Given the description of an element on the screen output the (x, y) to click on. 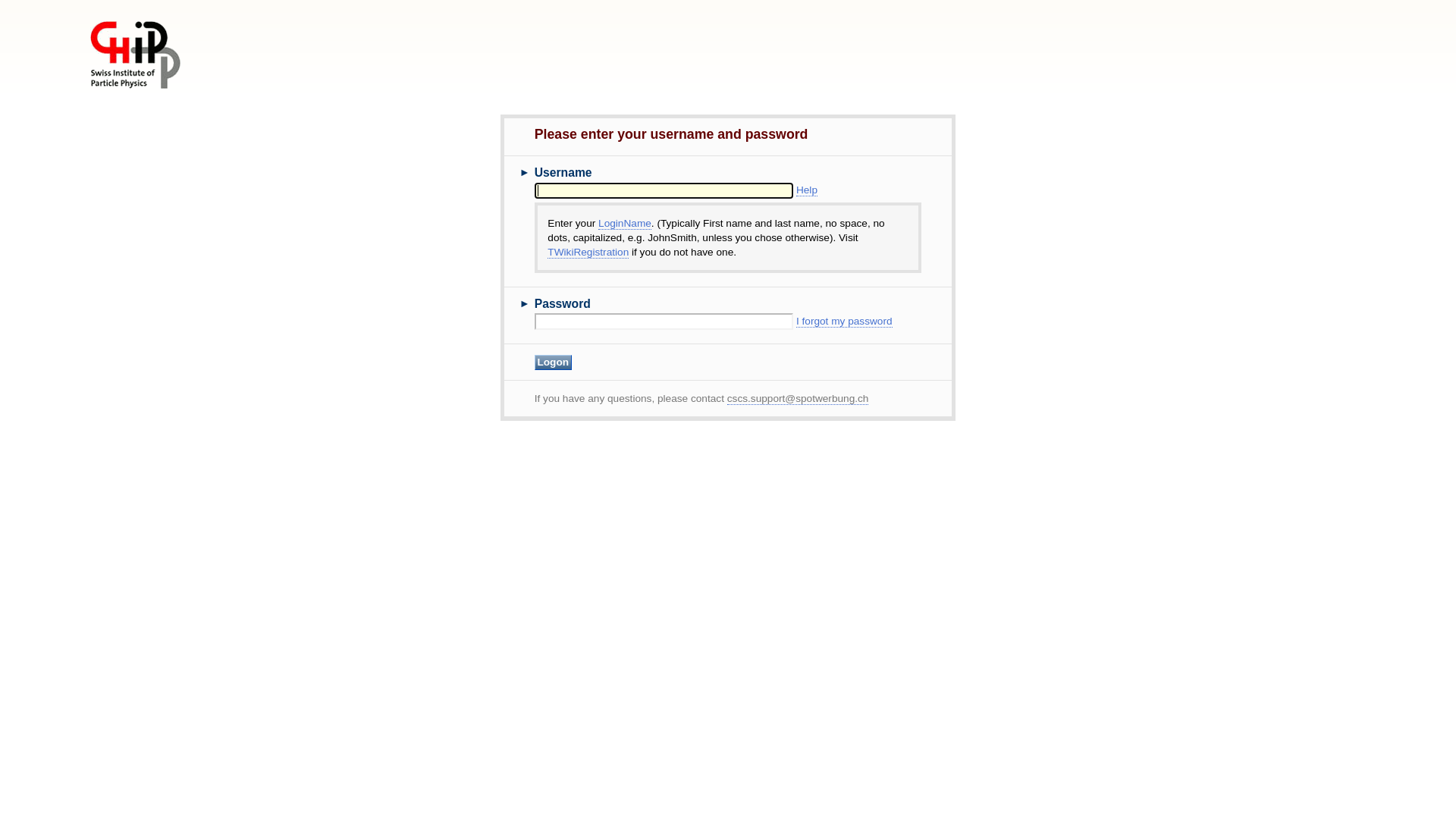
TWikiRegistration Element type: text (587, 252)
I forgot my password Element type: text (844, 321)
Logon Element type: text (552, 362)
Help Element type: text (806, 190)
LoginName Element type: text (624, 223)
cscs.support@spotwerbung.ch Element type: text (798, 398)
